Given the description of an element on the screen output the (x, y) to click on. 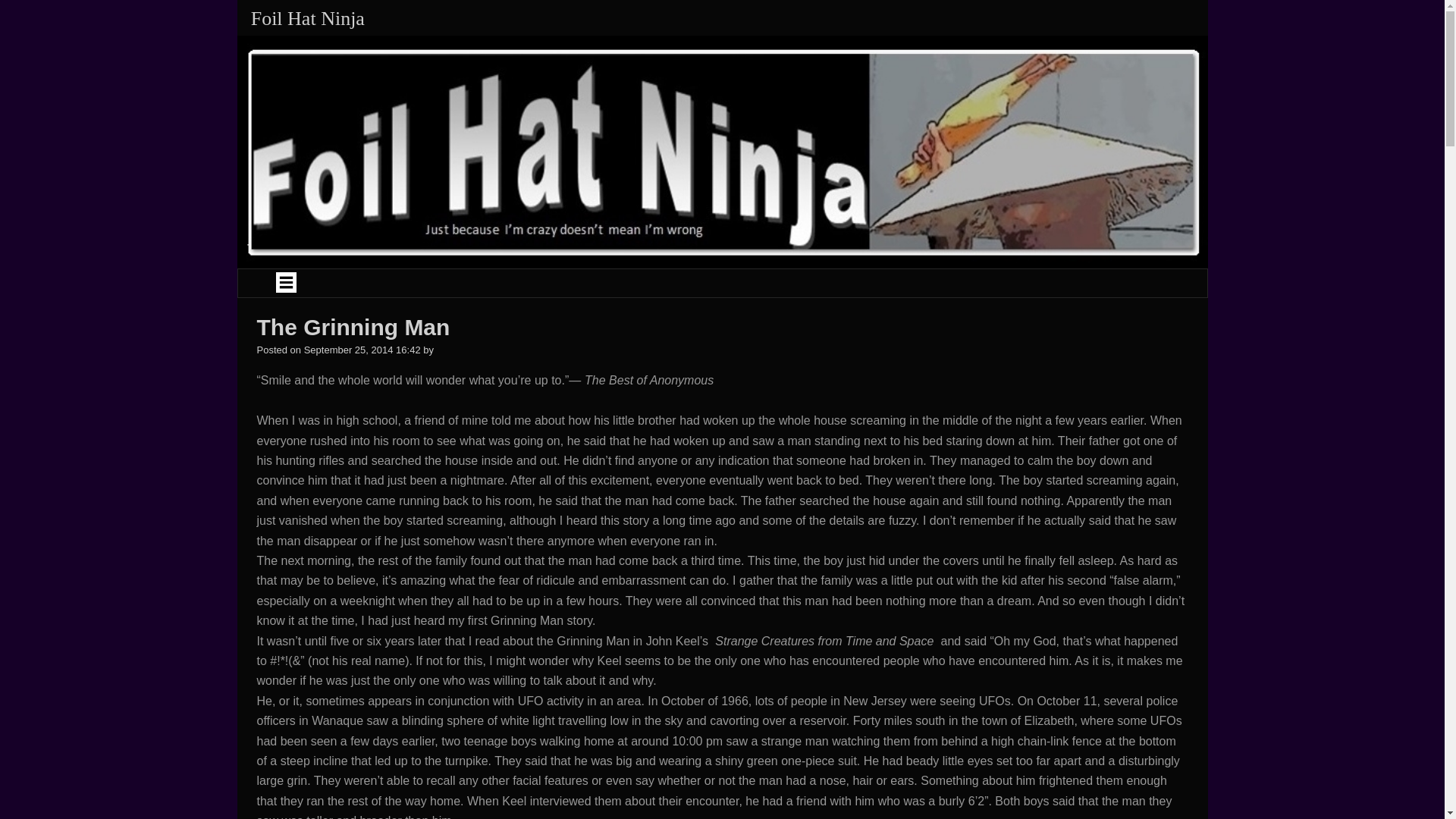
Shrunk (286, 281)
September 25, 2014 16:42 (362, 349)
Foil Hat Ninja (308, 18)
nav menu shrunk (326, 279)
